Given the description of an element on the screen output the (x, y) to click on. 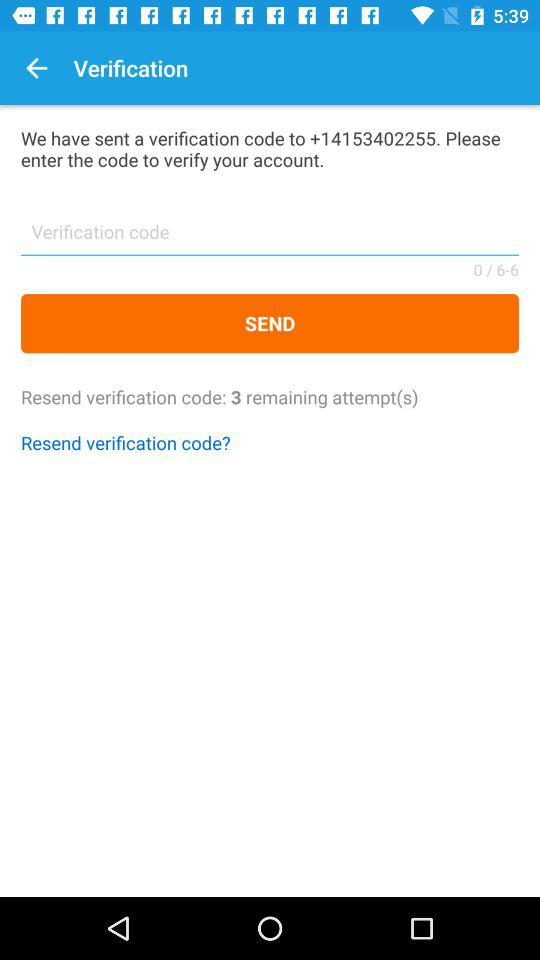
choose item at the top left corner (36, 67)
